Given the description of an element on the screen output the (x, y) to click on. 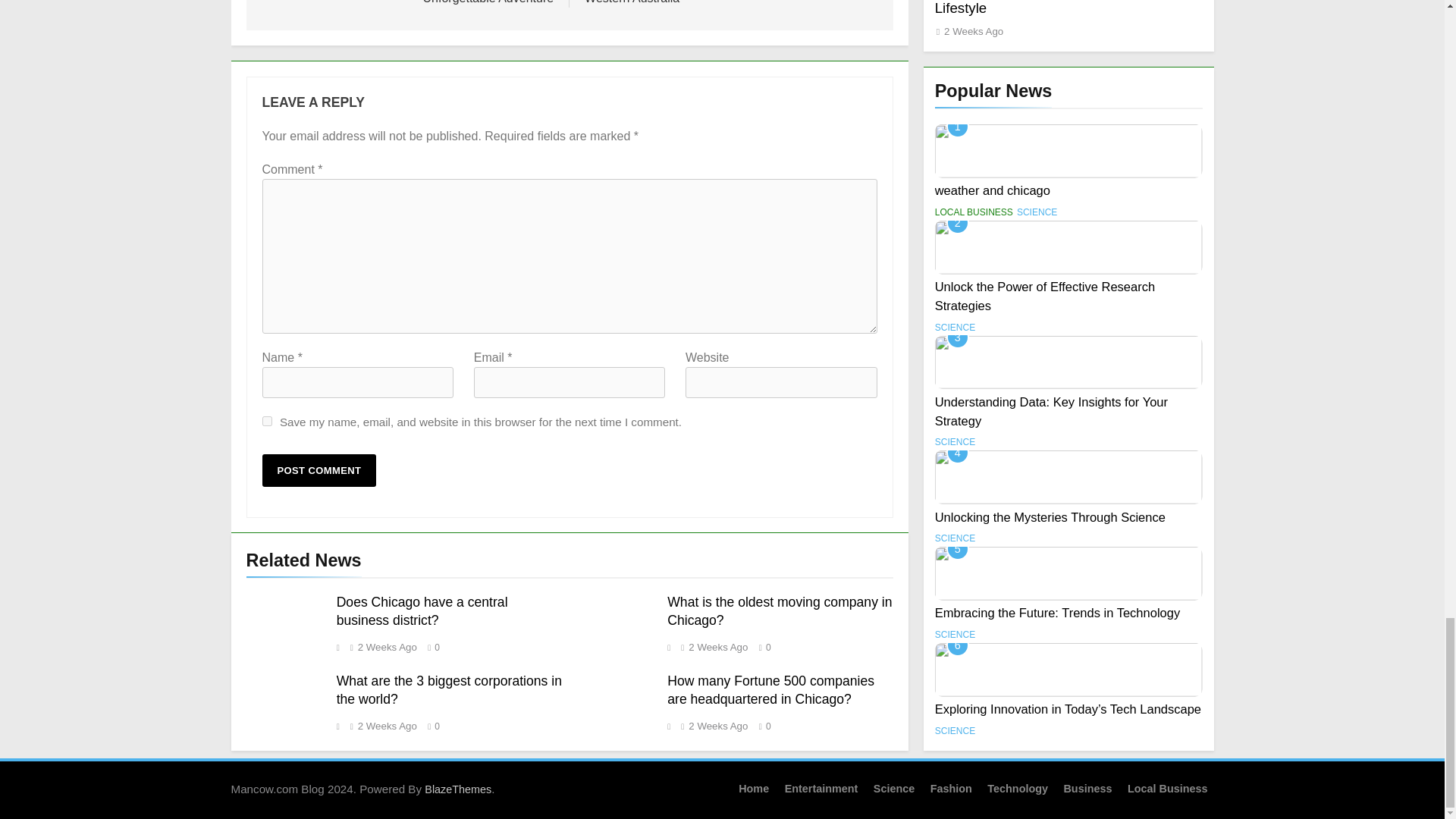
Post Comment (319, 470)
Post Comment (319, 470)
yes (267, 420)
Does Chicago have a central business district? (422, 611)
